Given the description of an element on the screen output the (x, y) to click on. 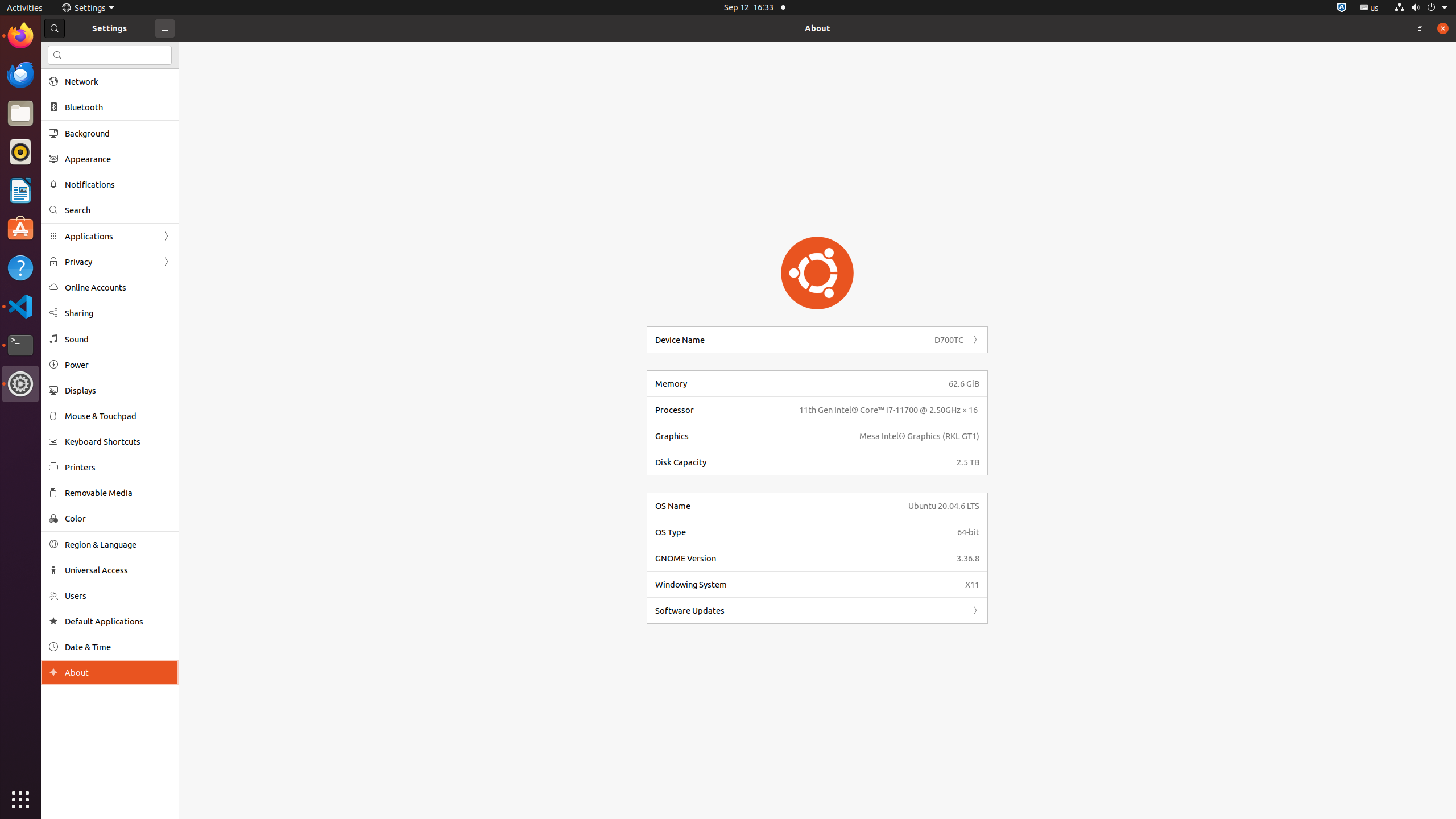
edit-find-symbolic Element type: icon (56, 54)
Universal Access Element type: label (117, 570)
Close Element type: push-button (1442, 27)
Color Element type: label (117, 518)
